Given the description of an element on the screen output the (x, y) to click on. 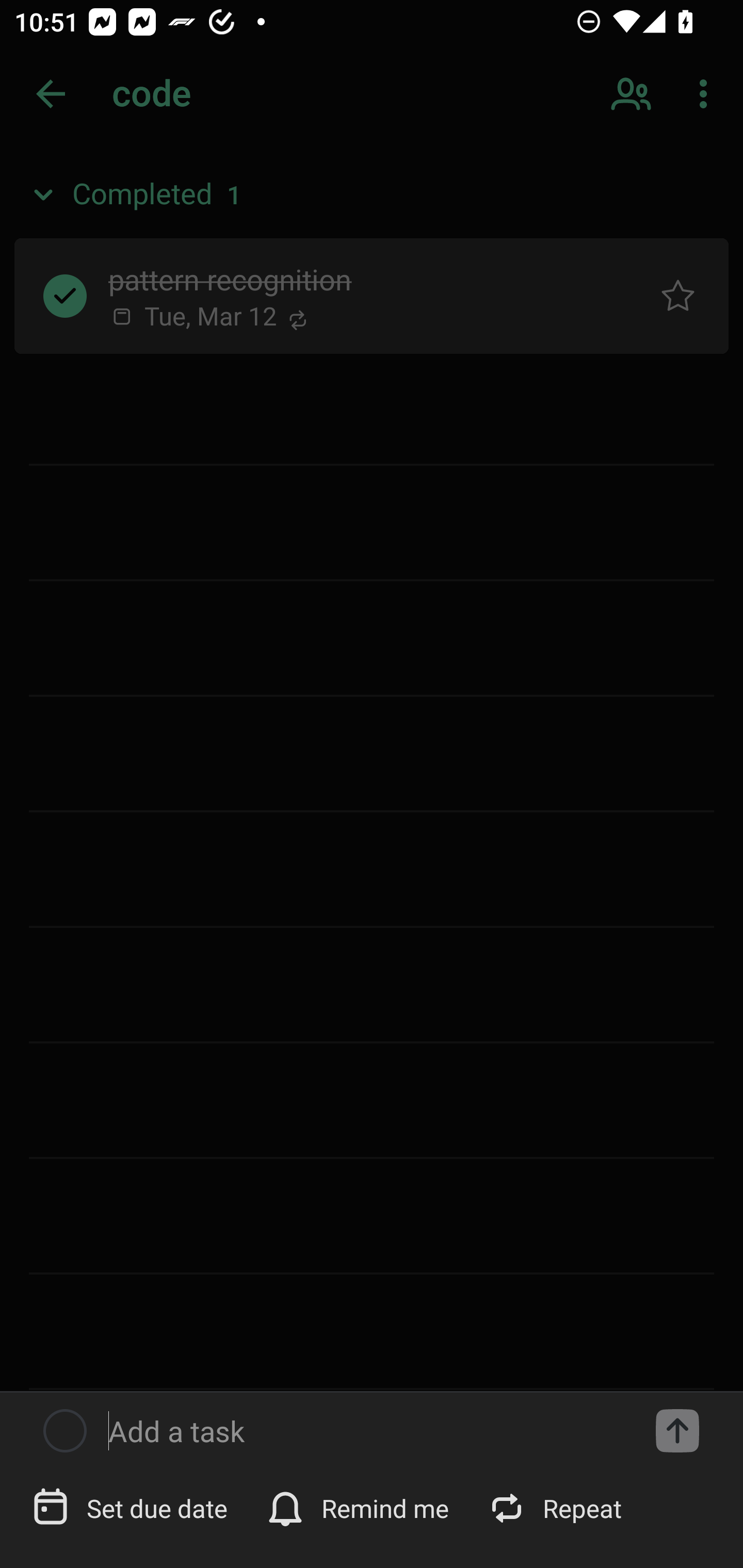
Back (50, 93)
testappium002@outlook.com Enter search (185, 93)
Sharing options (632, 93)
More options (706, 93)
Completed, 1 item, Expanded Completed 1 (371, 195)
Completed task pattern recognition, Button (64, 295)
Normal task pattern recognition, Button (677, 295)
Add a task (676, 1430)
Add a task (366, 1430)
Set due date (131, 1507)
Remind me (359, 1507)
Repeat (556, 1507)
